Given the description of an element on the screen output the (x, y) to click on. 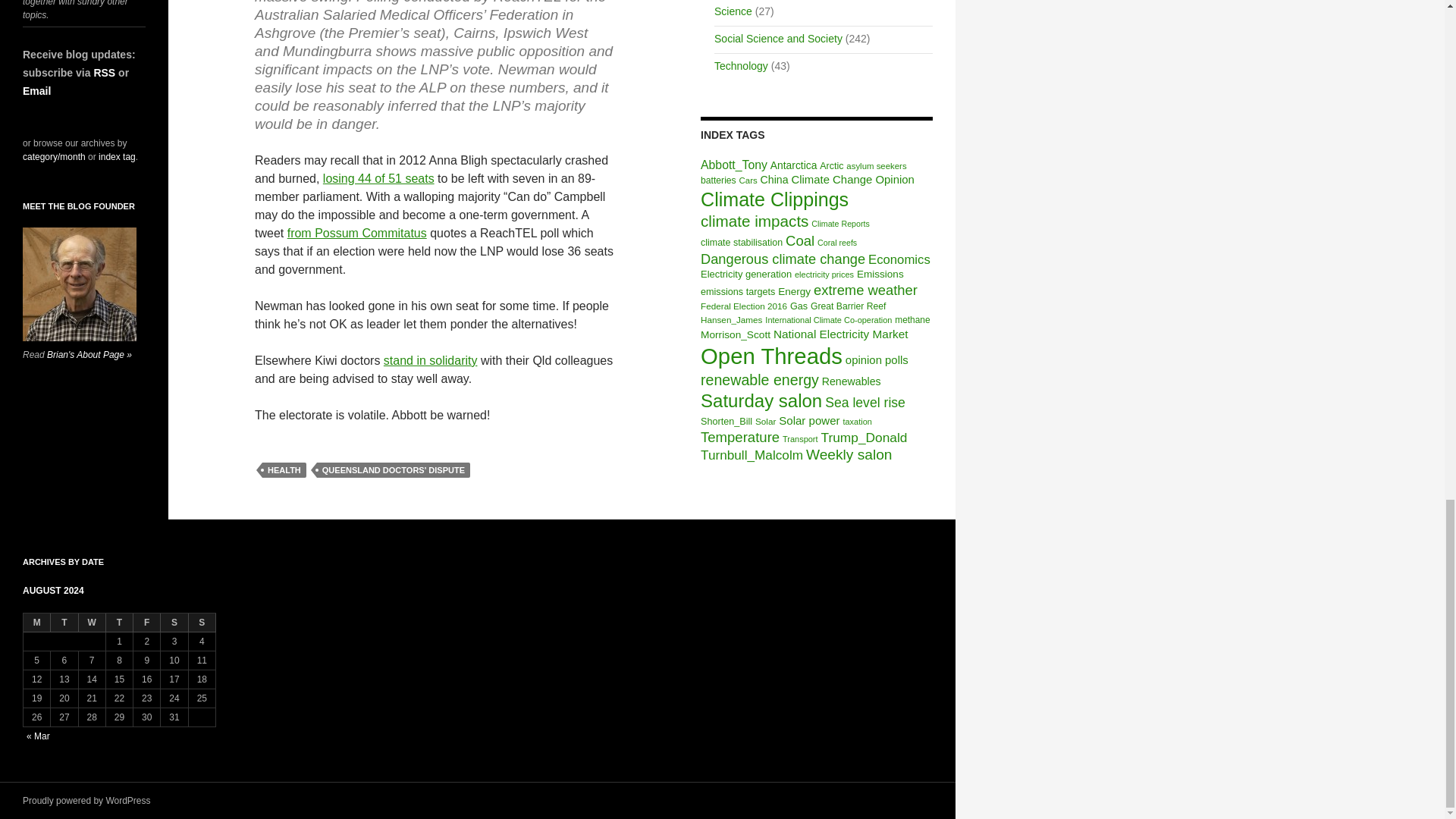
HEALTH (283, 469)
Wednesday (92, 622)
Monday (36, 622)
Posts archived indexed by topical tag (117, 156)
Thursday (119, 622)
Really Simple Syndication (104, 72)
losing 44 of 51 seats (378, 178)
Brian Bahnisch (79, 284)
from Possum Commitatus (356, 232)
QUEENSLAND DOCTORS' DISPUTE (393, 469)
